Given the description of an element on the screen output the (x, y) to click on. 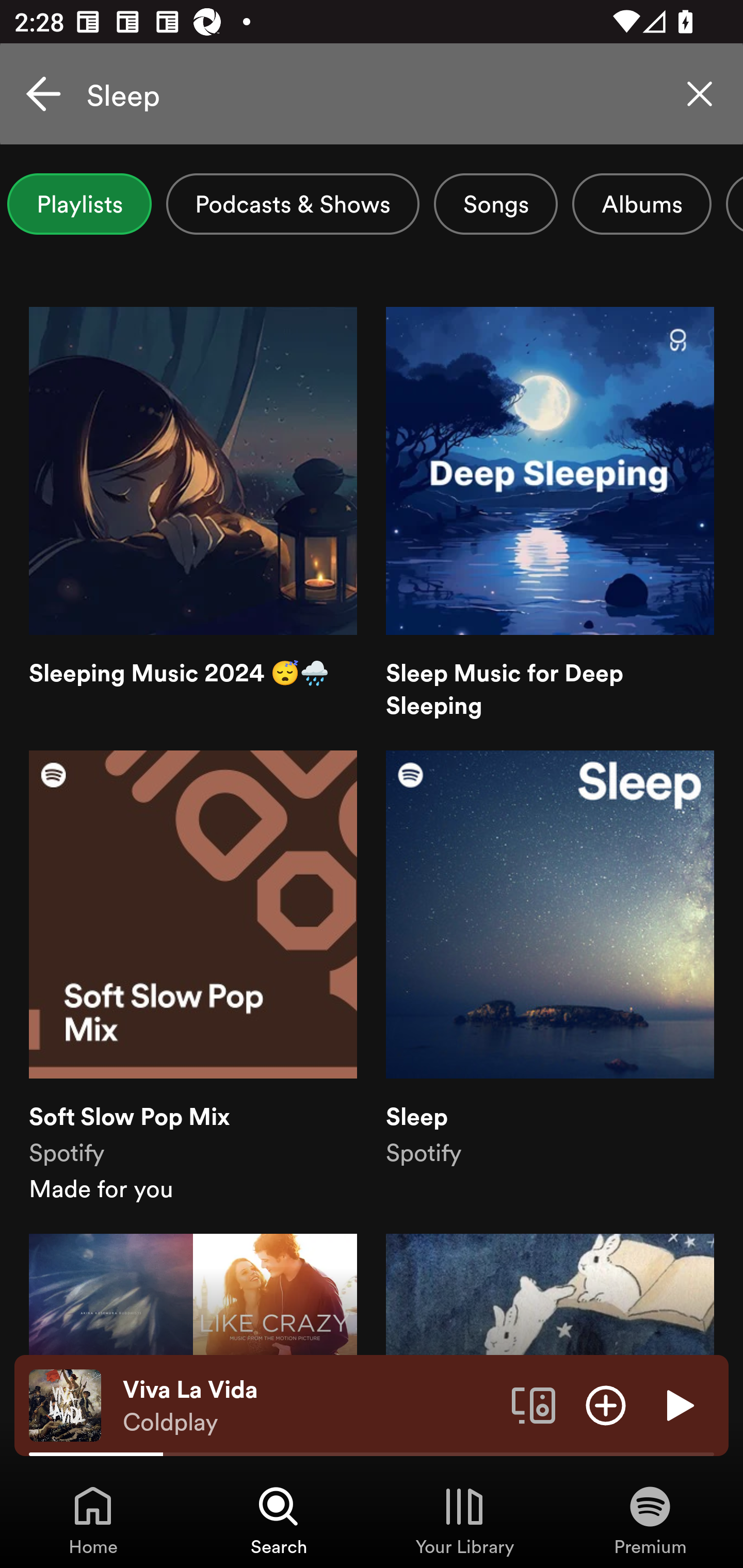
Sleep (371, 93)
Cancel (43, 93)
Clear search query (699, 93)
Playlists (79, 203)
Podcasts & Shows (292, 203)
Songs (495, 203)
Albums (641, 203)
Sleeping Music 2024 😴🌧️ (192, 514)
Sleep Music for Deep Sleeping (549, 514)
Soft Slow Pop Mix Spotify Made for you (192, 977)
Sleep Spotify (549, 977)
Viva La Vida Coldplay (309, 1405)
The cover art of the currently playing track (64, 1404)
Connect to a device. Opens the devices menu (533, 1404)
Add item (605, 1404)
Play (677, 1404)
Home, Tab 1 of 4 Home Home (92, 1519)
Search, Tab 2 of 4 Search Search (278, 1519)
Your Library, Tab 3 of 4 Your Library Your Library (464, 1519)
Premium, Tab 4 of 4 Premium Premium (650, 1519)
